Given the description of an element on the screen output the (x, y) to click on. 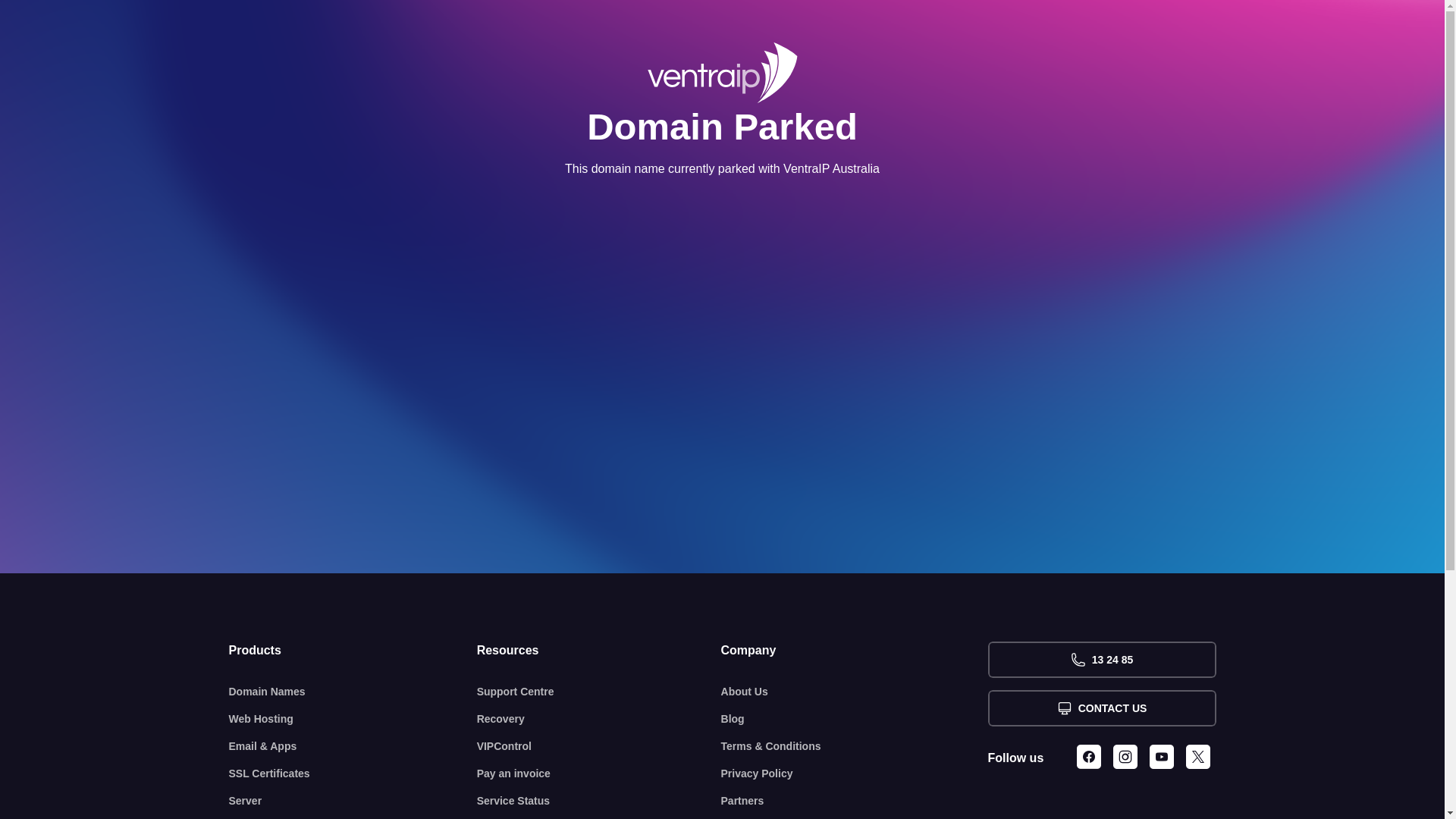
About Us Element type: text (854, 691)
Service Status Element type: text (598, 800)
Privacy Policy Element type: text (854, 773)
SSL Certificates Element type: text (352, 773)
Web Hosting Element type: text (352, 718)
Recovery Element type: text (598, 718)
CONTACT US Element type: text (1101, 708)
Pay an invoice Element type: text (598, 773)
Support Centre Element type: text (598, 691)
VIPControl Element type: text (598, 745)
Email & Apps Element type: text (352, 745)
Partners Element type: text (854, 800)
Domain Names Element type: text (352, 691)
Blog Element type: text (854, 718)
13 24 85 Element type: text (1101, 659)
Server Element type: text (352, 800)
Terms & Conditions Element type: text (854, 745)
